Given the description of an element on the screen output the (x, y) to click on. 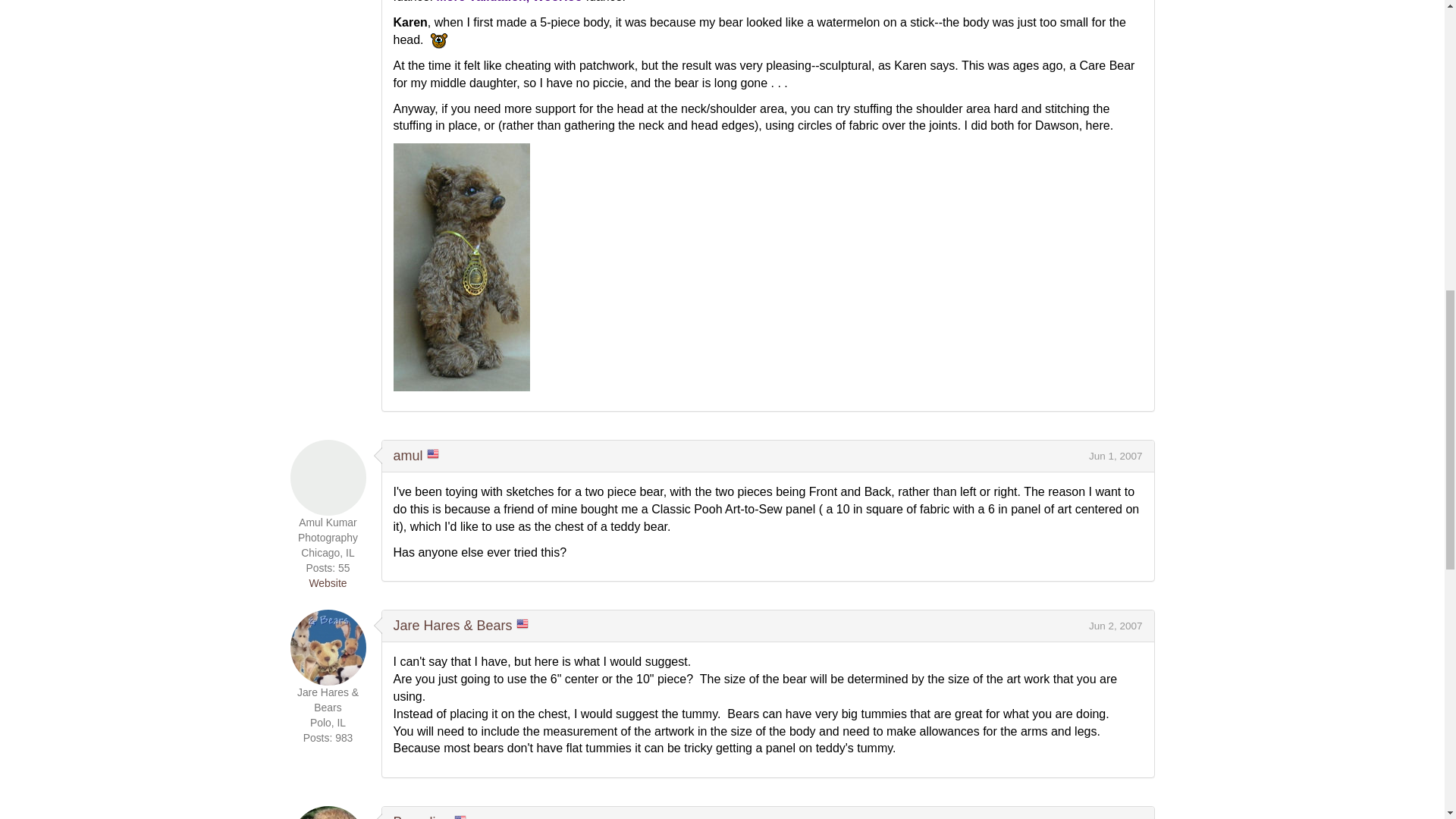
United States (459, 816)
Website (327, 582)
United States (522, 623)
amul (407, 455)
United States (432, 453)
Jun 1, 2007 (1115, 455)
